Given the description of an element on the screen output the (x, y) to click on. 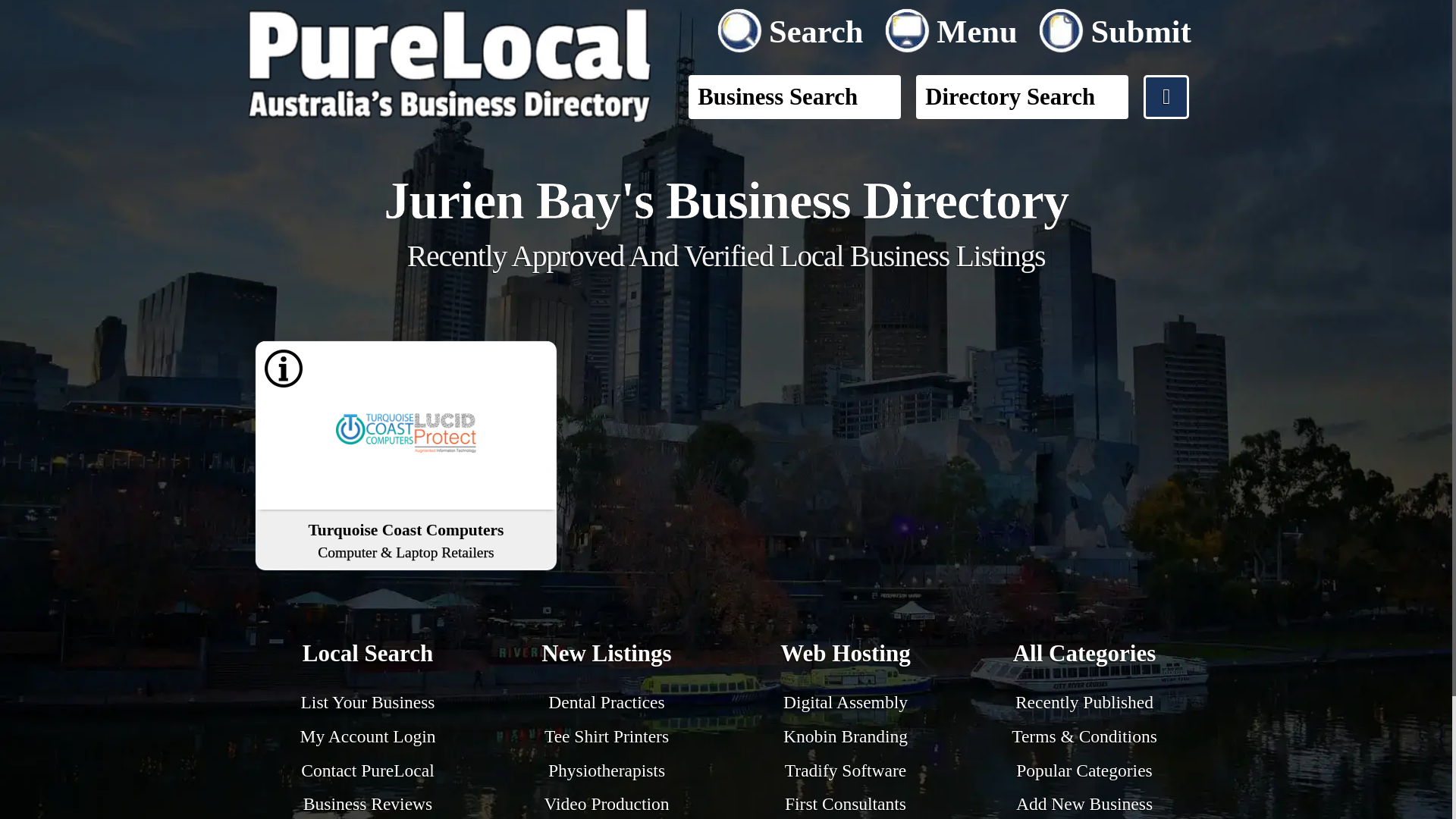
List Your Business (368, 701)
Add New Business (1084, 803)
Popular Categories (1083, 770)
Dental Practices (605, 701)
Recently Published (1083, 701)
Search (793, 27)
Contact PureLocal (367, 770)
Knobin Branding (845, 736)
New Listings (606, 655)
Physiotherapists (606, 770)
